Given the description of an element on the screen output the (x, y) to click on. 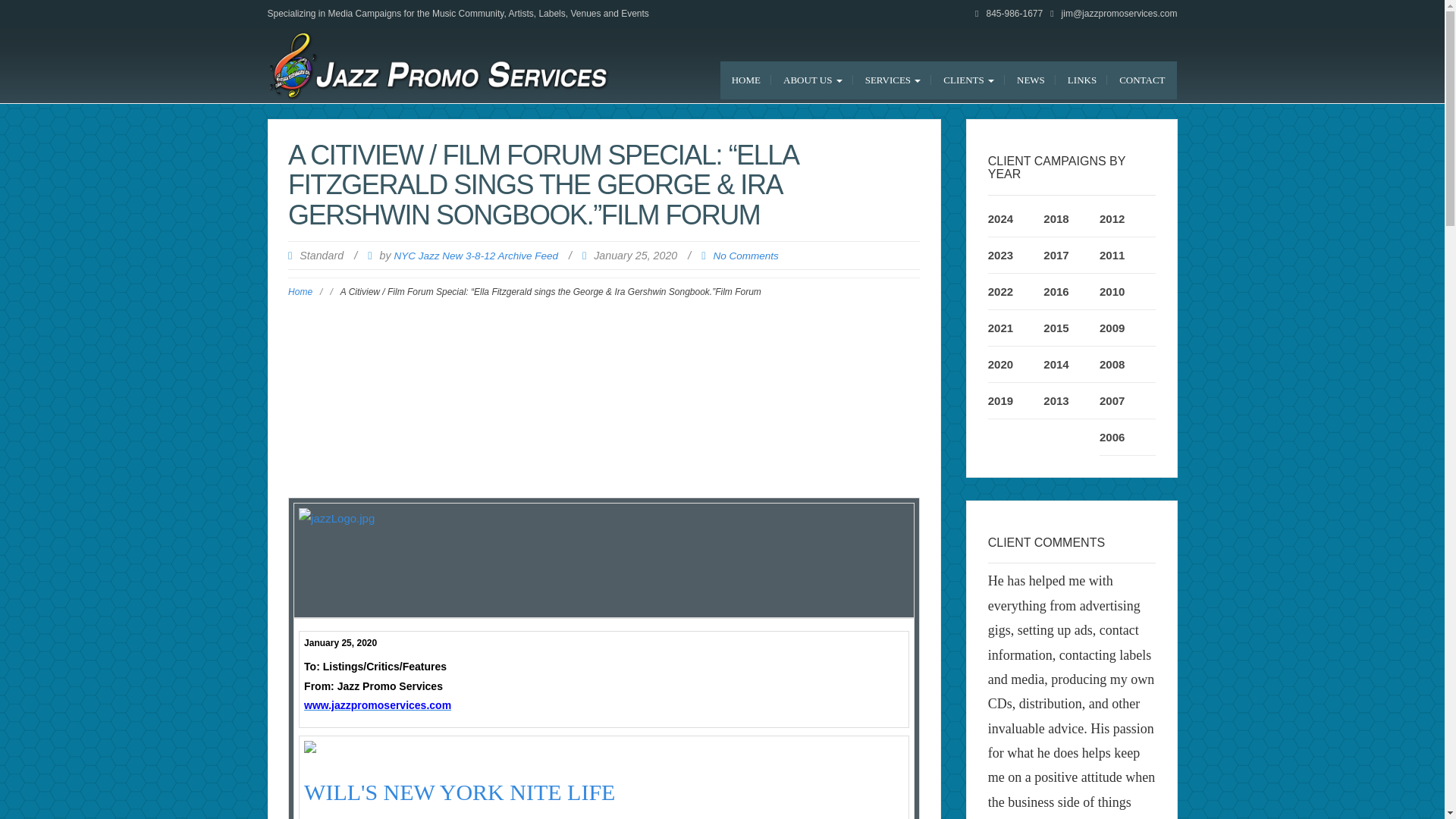
Clients (968, 80)
www.jazzpromoservices.com (377, 705)
NYC Jazz New 3-8-12 Archive Feed (475, 255)
LINKS (1082, 80)
Home (745, 80)
Services (893, 80)
About Us (812, 80)
NEWS (1031, 80)
CONTACT (1142, 80)
CLIENTS (968, 80)
SERVICES (893, 80)
News (1031, 80)
ABOUT US (812, 80)
HOME (745, 80)
No Comments (745, 255)
